Given the description of an element on the screen output the (x, y) to click on. 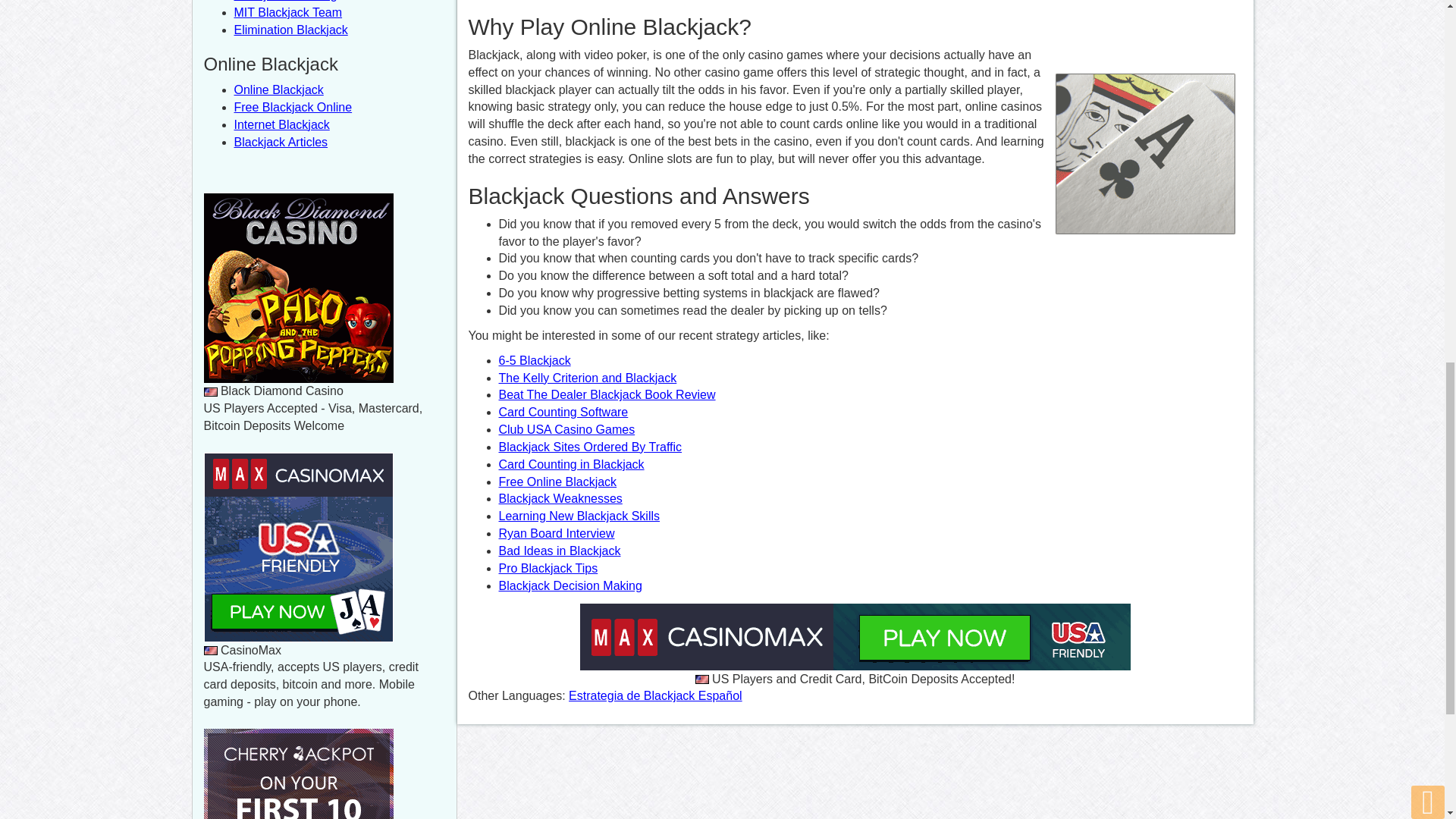
Blackjack Cheating (284, 0)
Free Blackjack Online (292, 106)
Elimination Blackjack (289, 29)
Online Blackjack (277, 89)
Blackjack Articles (279, 141)
MIT Blackjack Team (287, 11)
Internet Blackjack (280, 124)
